Given the description of an element on the screen output the (x, y) to click on. 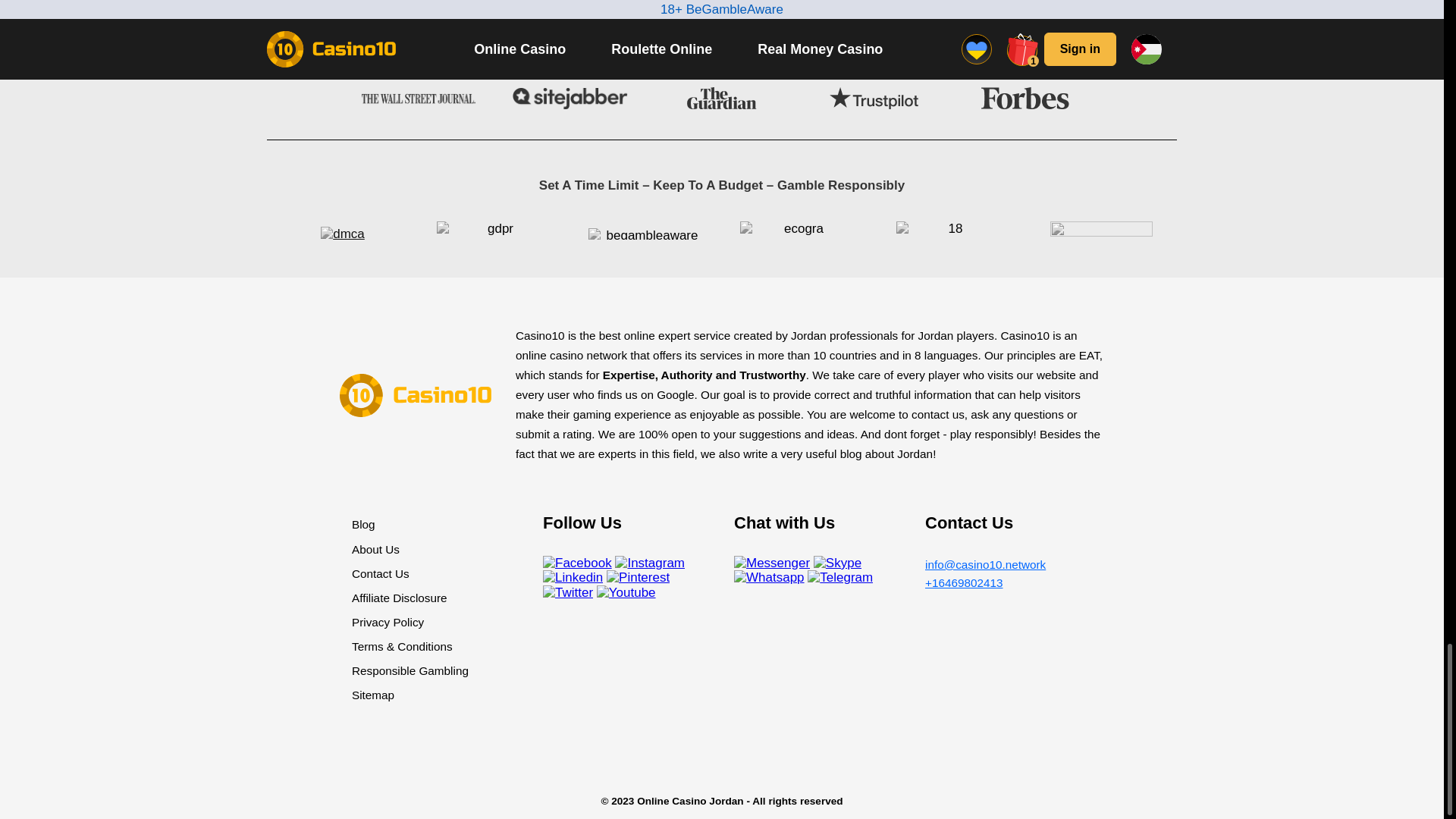
Contact Us (380, 573)
About Us (375, 549)
Blog (363, 523)
